Given the description of an element on the screen output the (x, y) to click on. 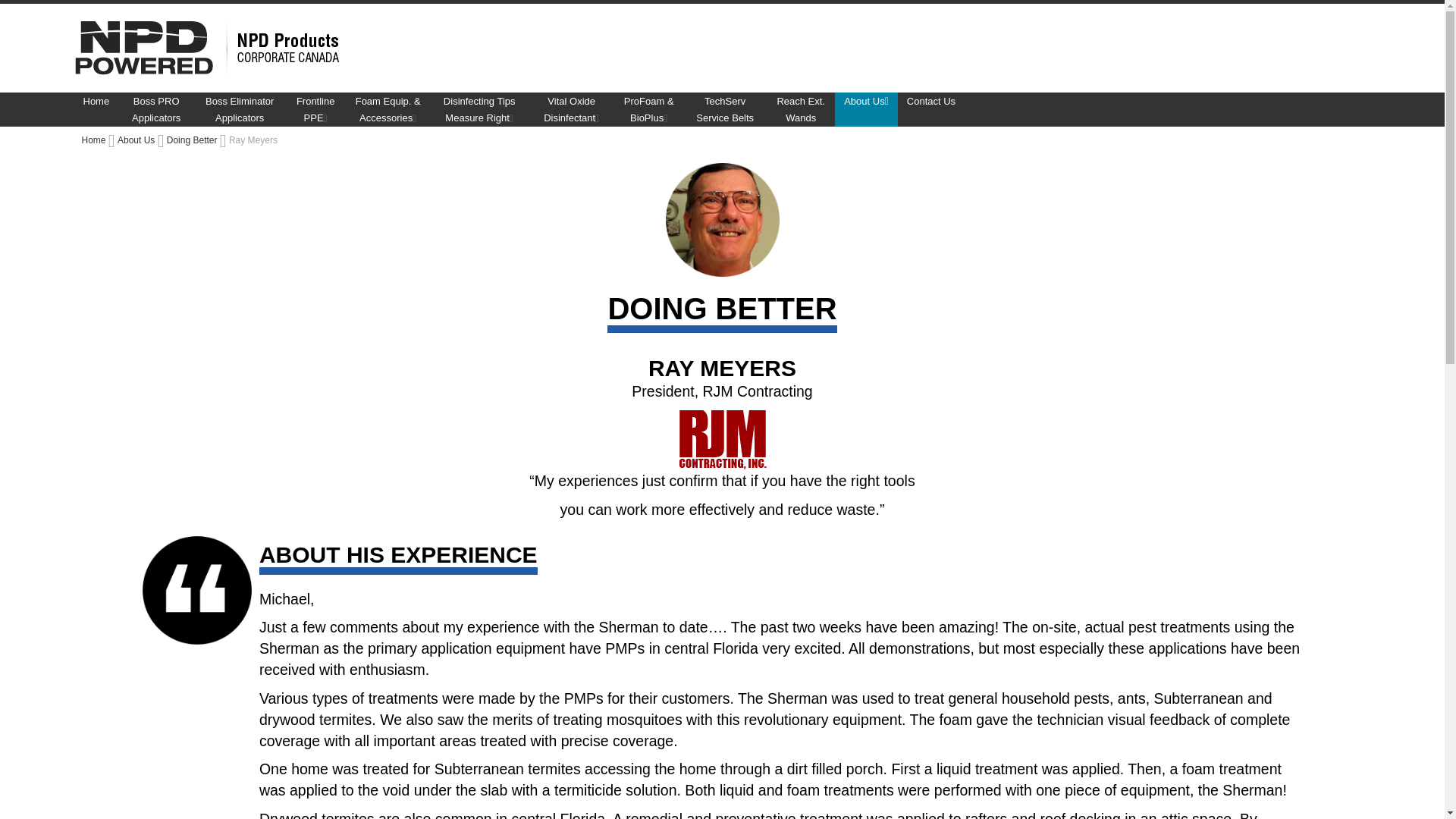
Disinfecting Tips Measure Right (478, 109)
Boss Eliminator Applicators (239, 109)
NPD Powered Logo (213, 47)
Home (96, 109)
Boss PRO Applicators (155, 109)
Go to Home Page (93, 140)
Contact Us (930, 109)
Frontline PPE (315, 109)
Vital Oxide Disinfectant (571, 109)
